Given the description of an element on the screen output the (x, y) to click on. 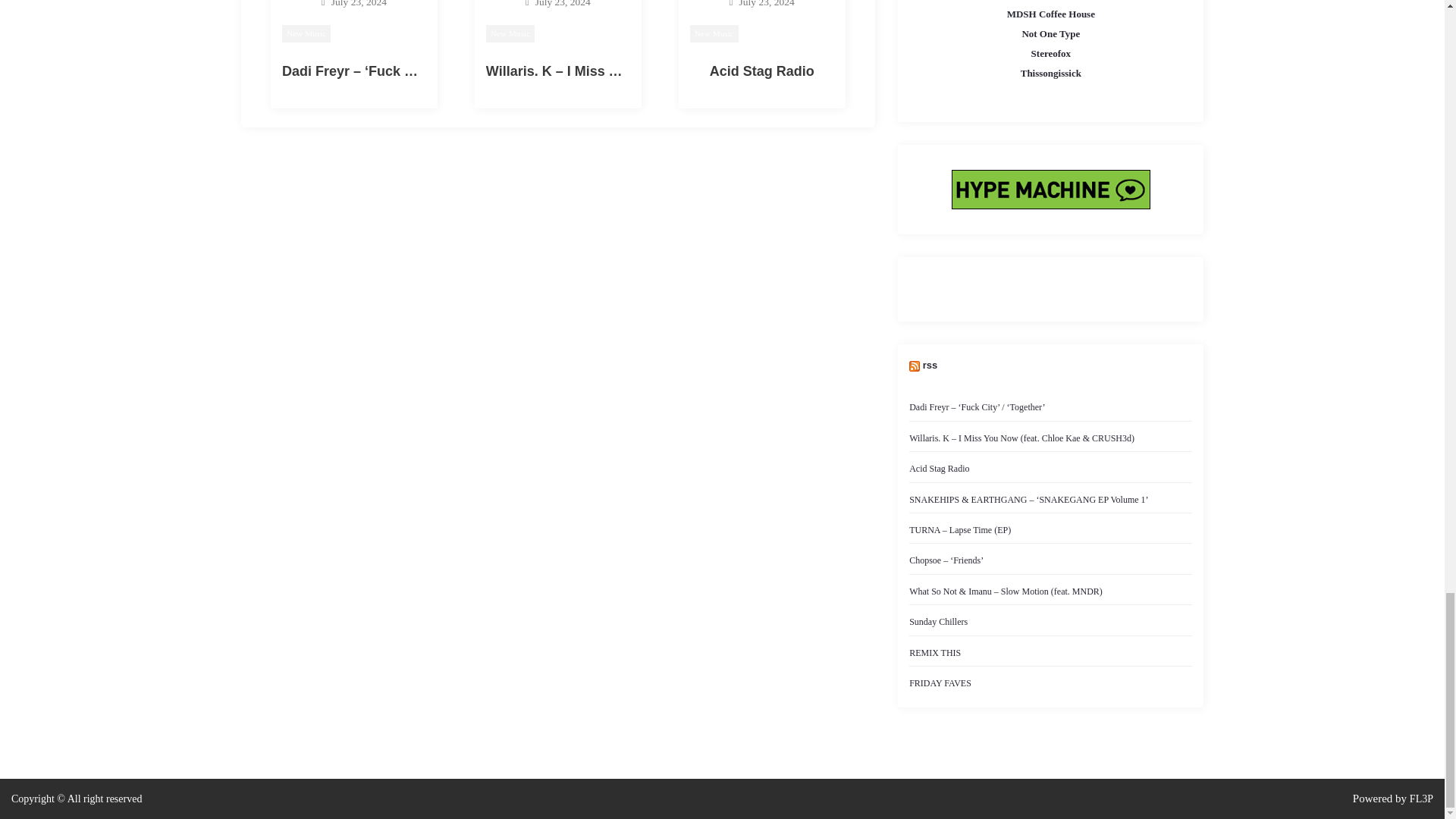
Acid Stag Radio (761, 70)
New Music (510, 33)
New Music (306, 33)
New Music (714, 33)
